Given the description of an element on the screen output the (x, y) to click on. 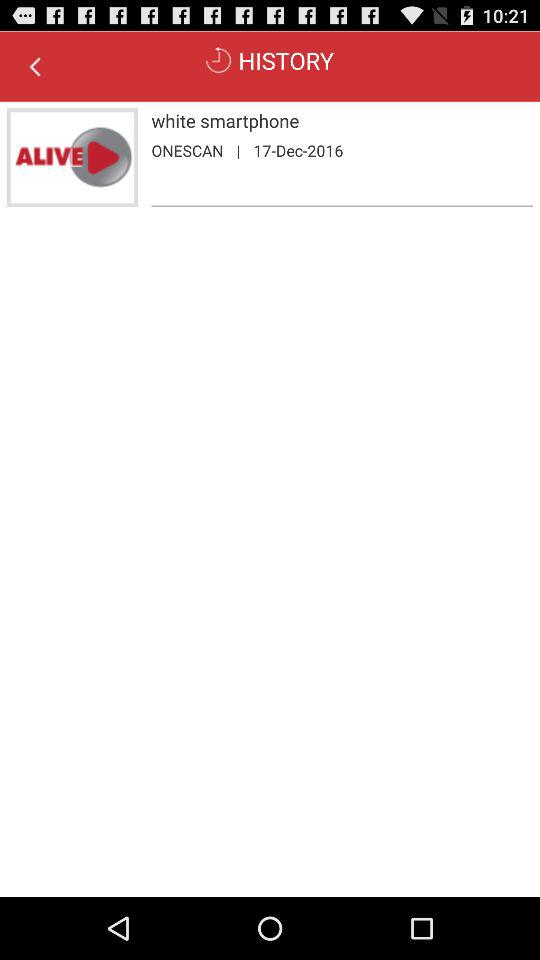
turn on the app to the left of white smartphone (72, 157)
